Given the description of an element on the screen output the (x, y) to click on. 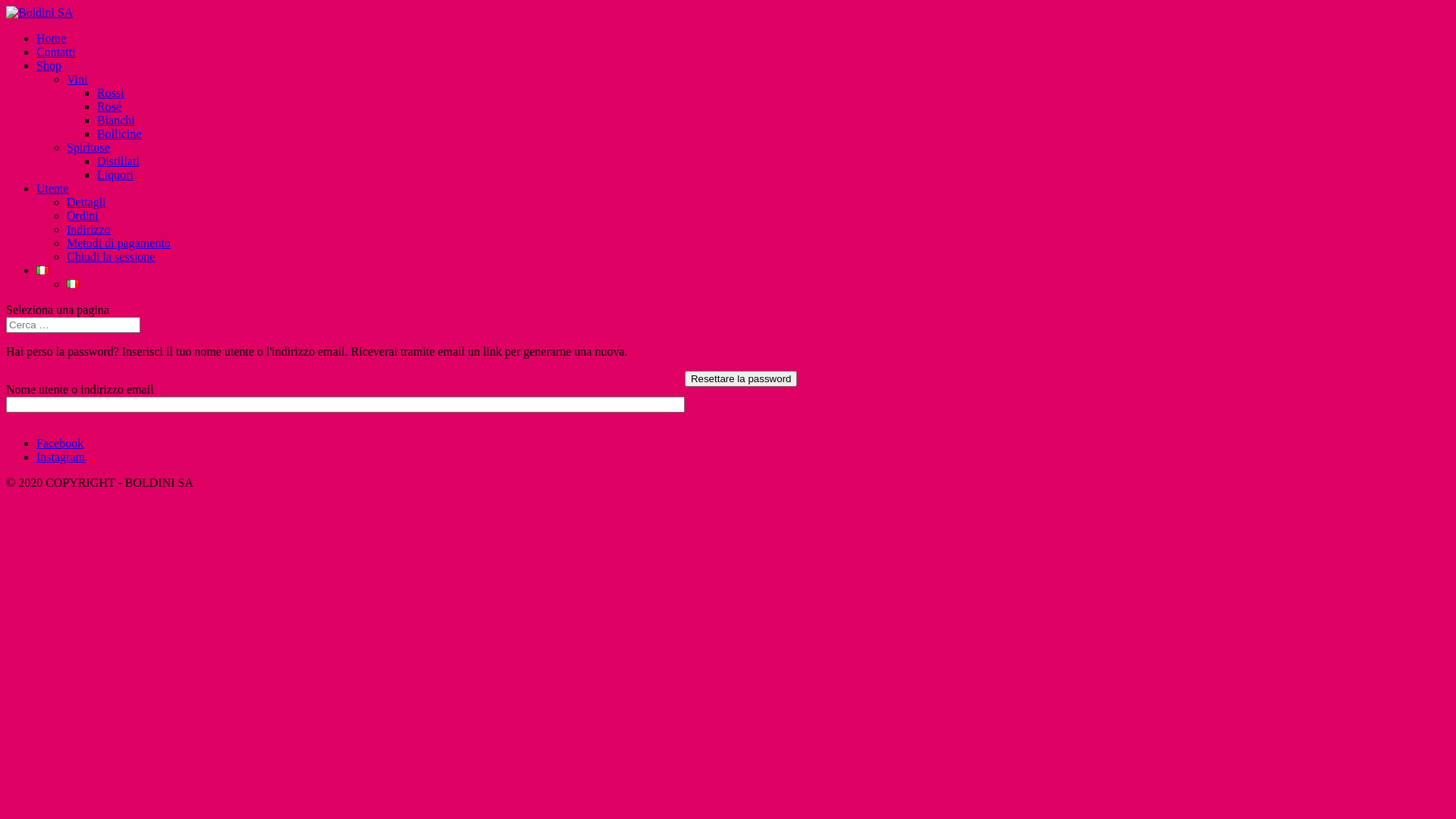
Vini Element type: text (76, 78)
Utente Element type: text (52, 188)
Rossi Element type: text (110, 92)
Home Element type: text (50, 37)
Resettare la password Element type: text (740, 378)
Ordini Element type: text (82, 215)
Bianchi Element type: text (115, 119)
Bollicine Element type: text (119, 133)
Distillati Element type: text (118, 160)
Indirizzo Element type: text (88, 228)
Cerca: Element type: hover (73, 324)
Instagram Element type: text (60, 456)
Shop Element type: text (48, 65)
Metodi di pagamento Element type: text (118, 242)
Facebook Element type: text (59, 442)
Spiritose Element type: text (87, 147)
Liquori Element type: text (115, 174)
Chiudi la sessione Element type: text (110, 256)
Dettagli Element type: text (86, 201)
Contatti Element type: text (55, 51)
